Given the description of an element on the screen output the (x, y) to click on. 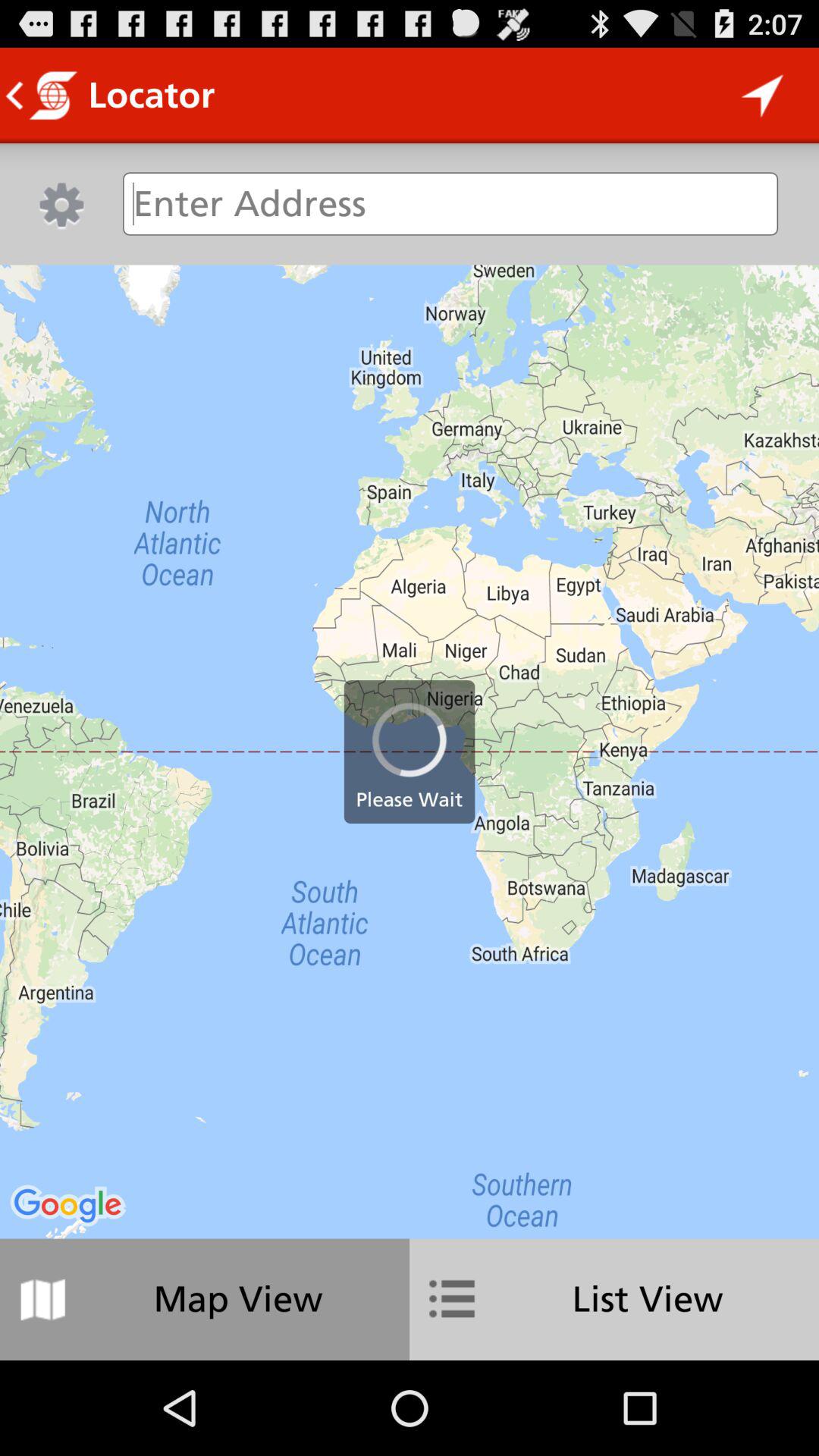
choose the item next to the list view icon (204, 1299)
